Given the description of an element on the screen output the (x, y) to click on. 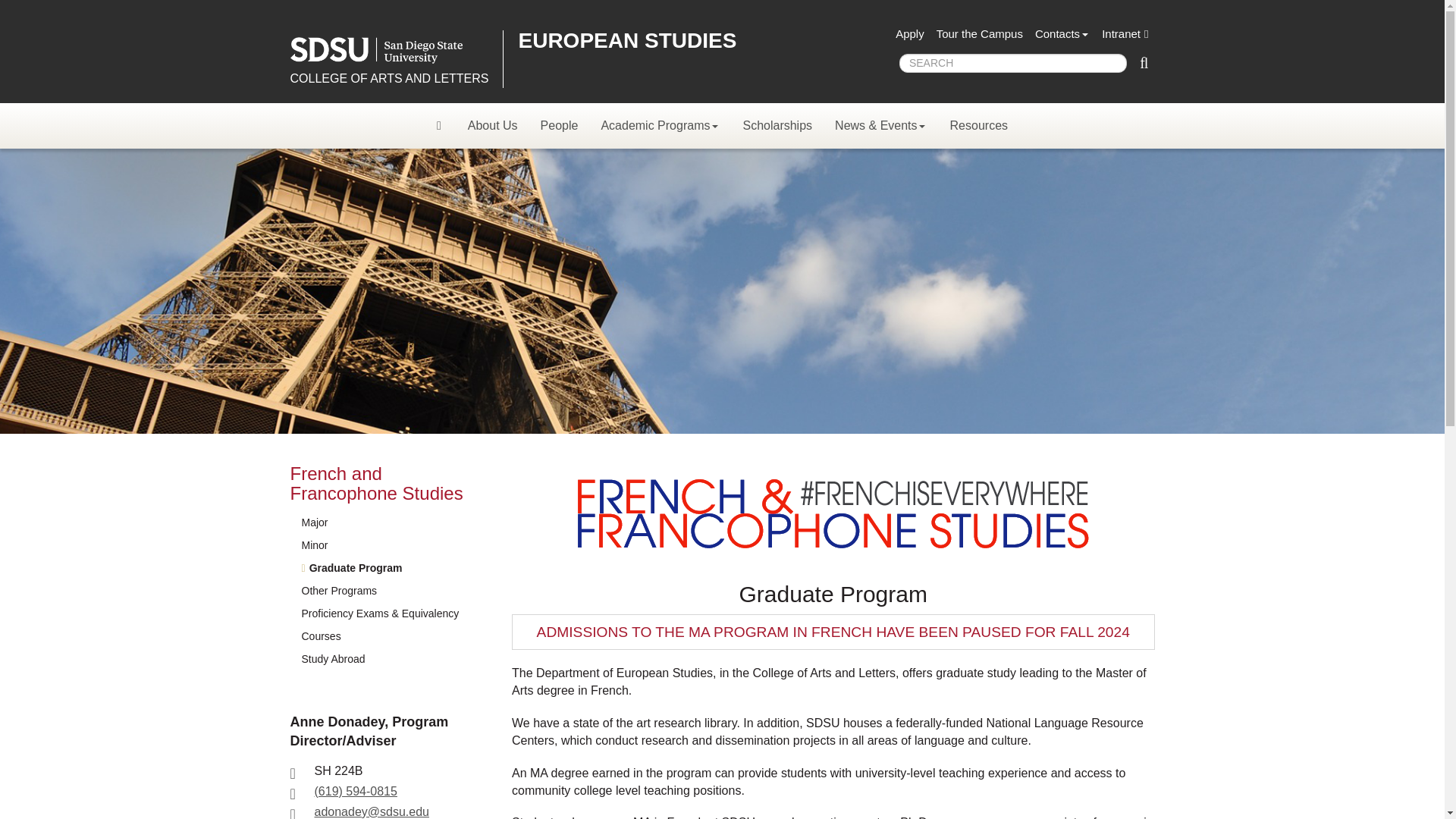
People (559, 125)
EUROPEAN STUDIES (627, 40)
Academic Programs (659, 125)
Apply (909, 34)
Resources (979, 125)
Scholarships (777, 125)
Contacts (1062, 34)
French and Francophone Studies (376, 483)
Major (383, 522)
San Diego State University (389, 50)
COLLEGE OF ARTS AND LETTERS (388, 78)
Intranet (1125, 34)
Graduate Program (383, 568)
Minor (383, 545)
Other Programs (383, 590)
